Given the description of an element on the screen output the (x, y) to click on. 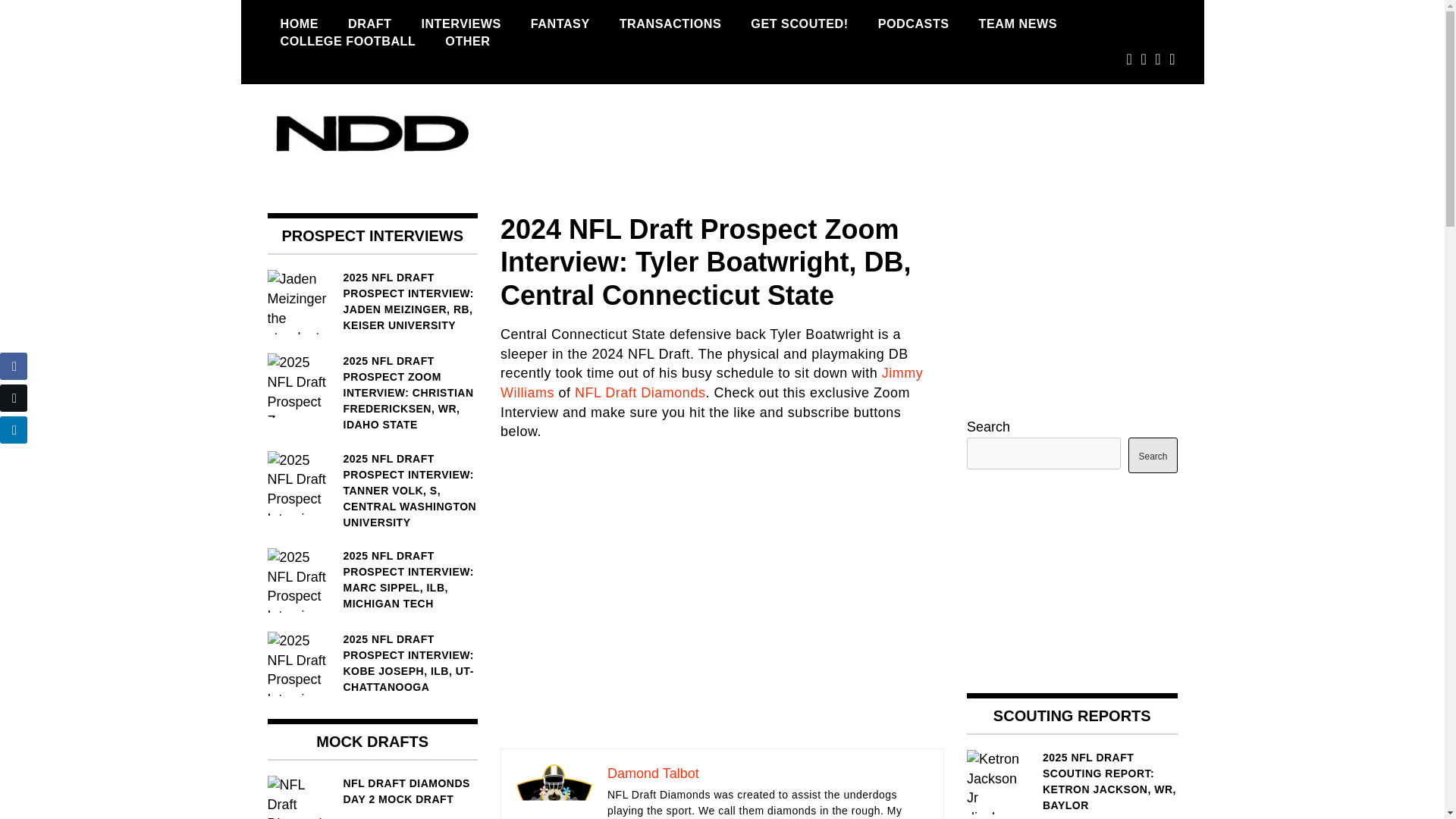
HOME (298, 23)
INTERVIEWS (460, 23)
DRAFT (369, 23)
GET SCOUTED! (799, 23)
TRANSACTIONS (670, 23)
TEAM NEWS (1018, 23)
PODCASTS (913, 23)
FANTASY (560, 23)
